Given the description of an element on the screen output the (x, y) to click on. 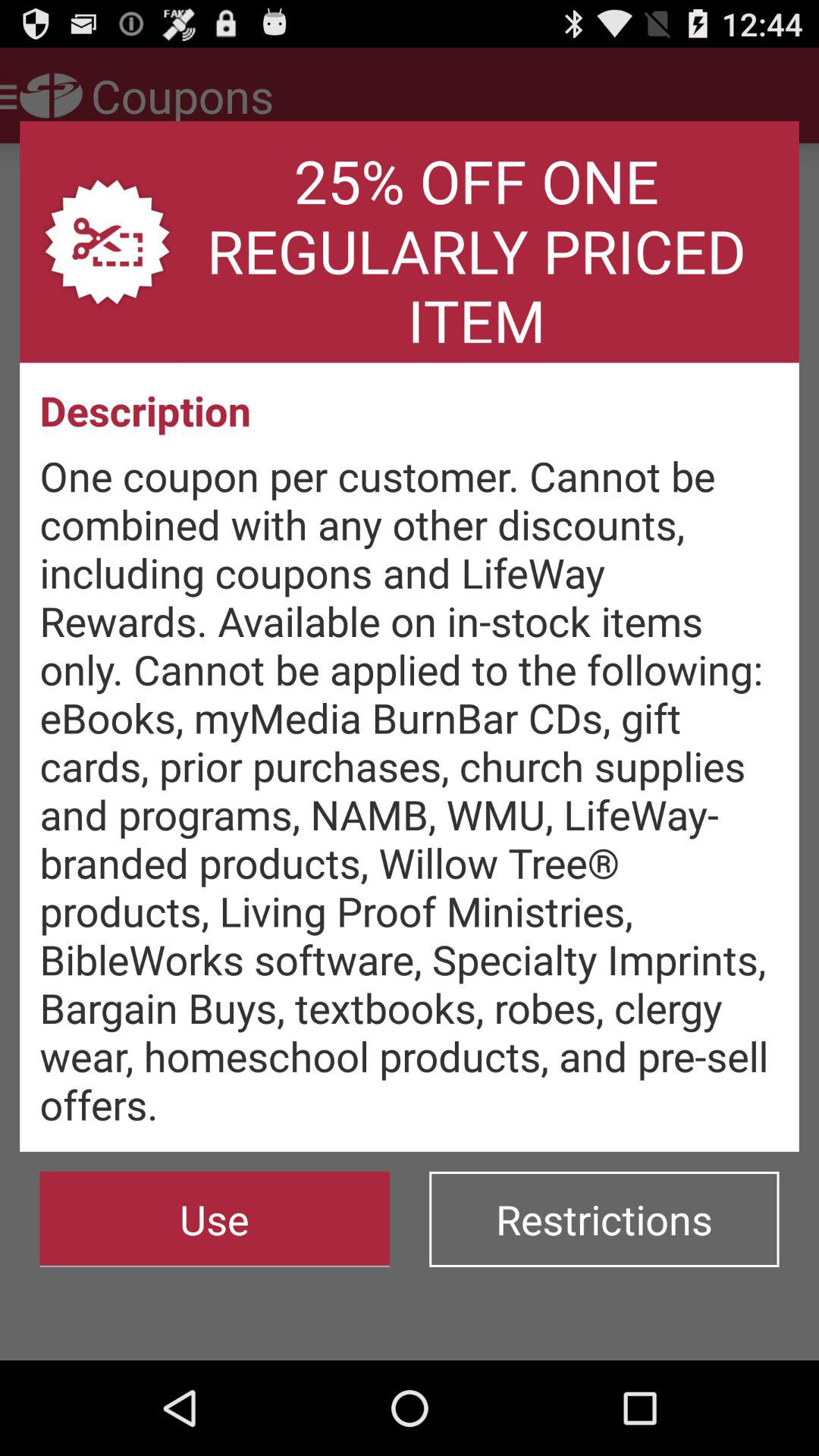
press the icon at the bottom left corner (214, 1219)
